Given the description of an element on the screen output the (x, y) to click on. 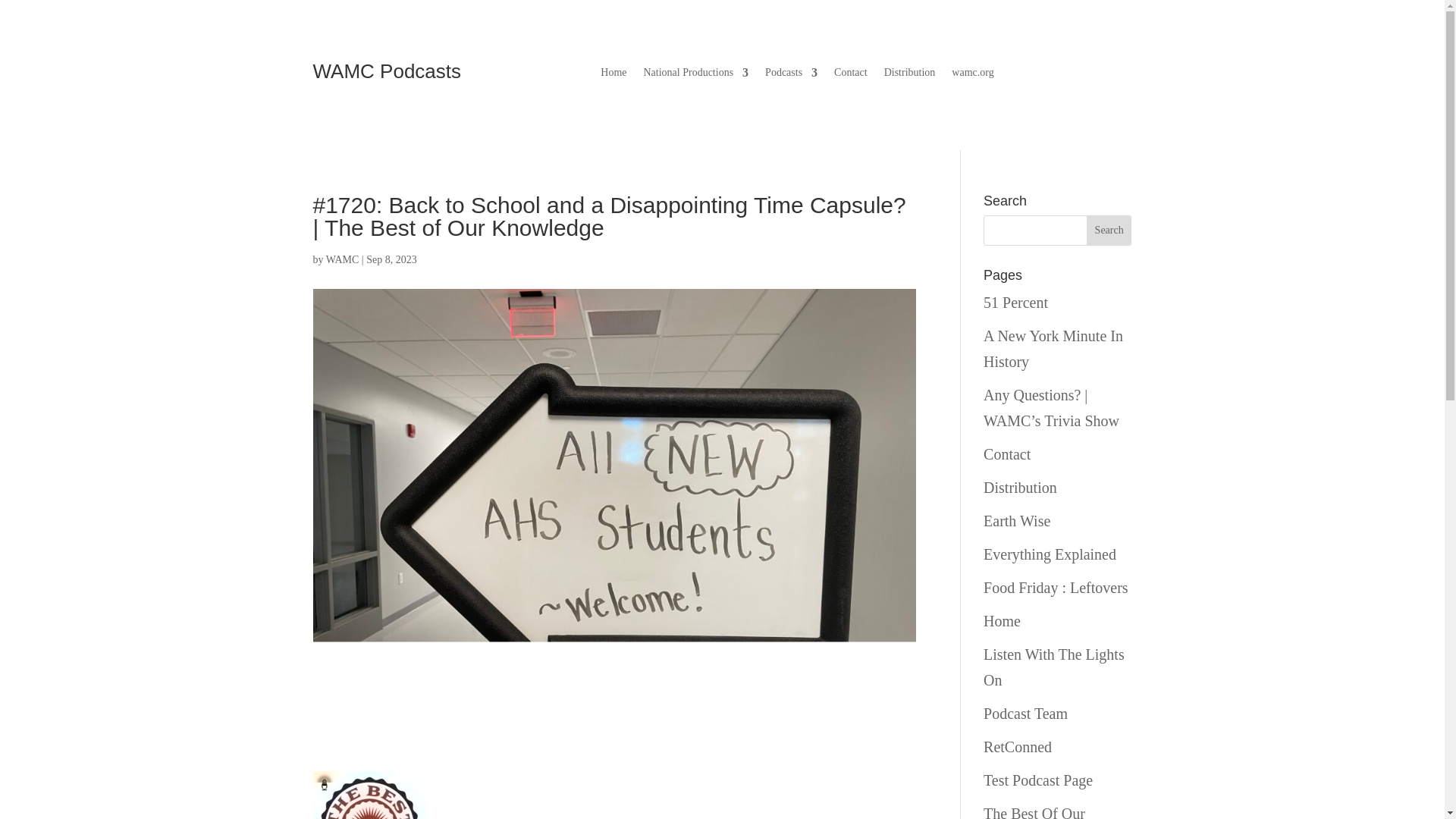
Posts by WAMC (342, 259)
Search (1109, 230)
Contact (850, 75)
Distribution (909, 75)
51 Percent (1016, 302)
wamc.org (972, 75)
Podcasts (790, 75)
WAMC (342, 259)
Home (612, 75)
A New York Minute In History (1053, 348)
